Given the description of an element on the screen output the (x, y) to click on. 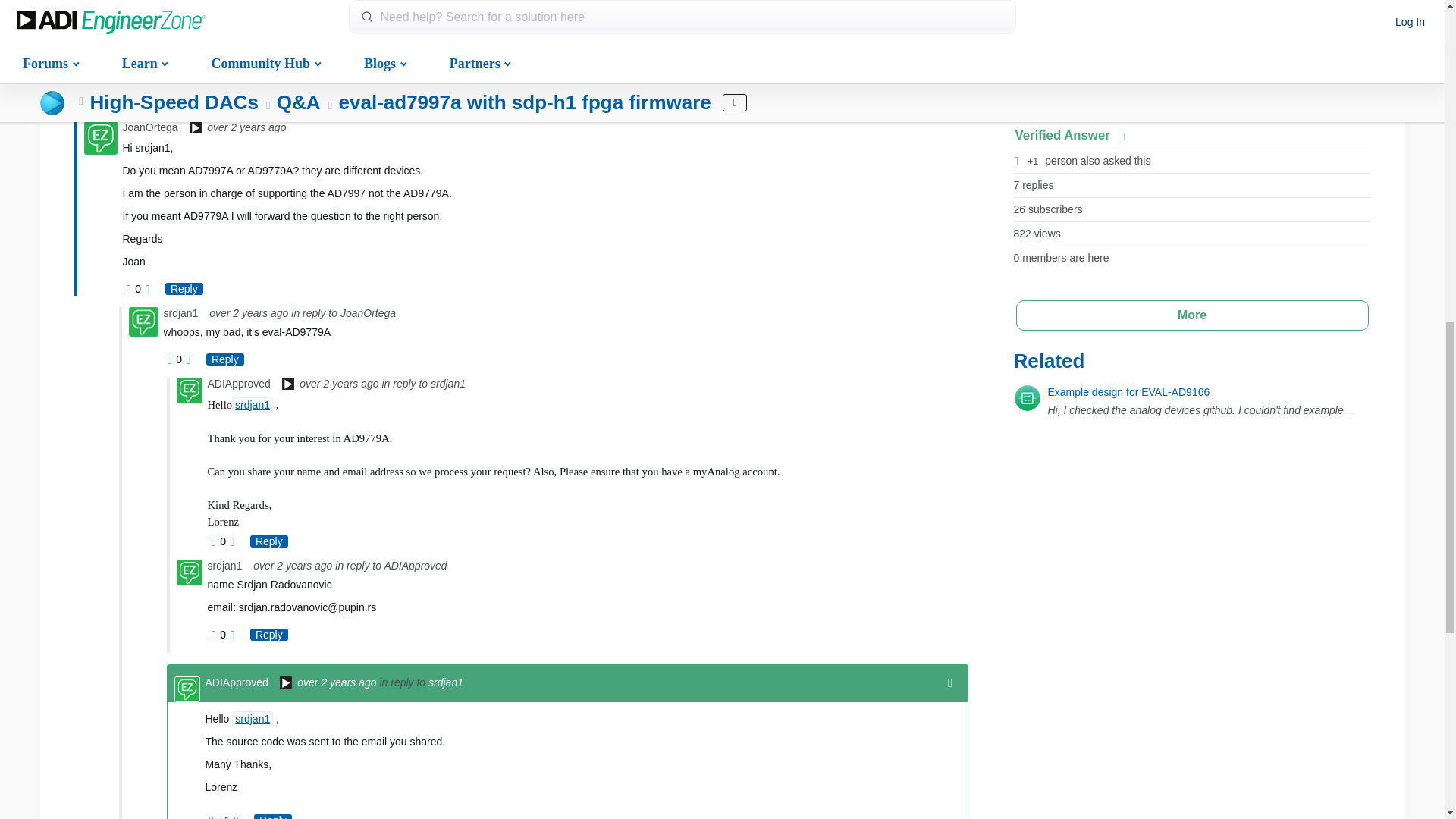
Analog Employees (195, 128)
Analog Employees (285, 683)
Analog Employees (288, 385)
